Given the description of an element on the screen output the (x, y) to click on. 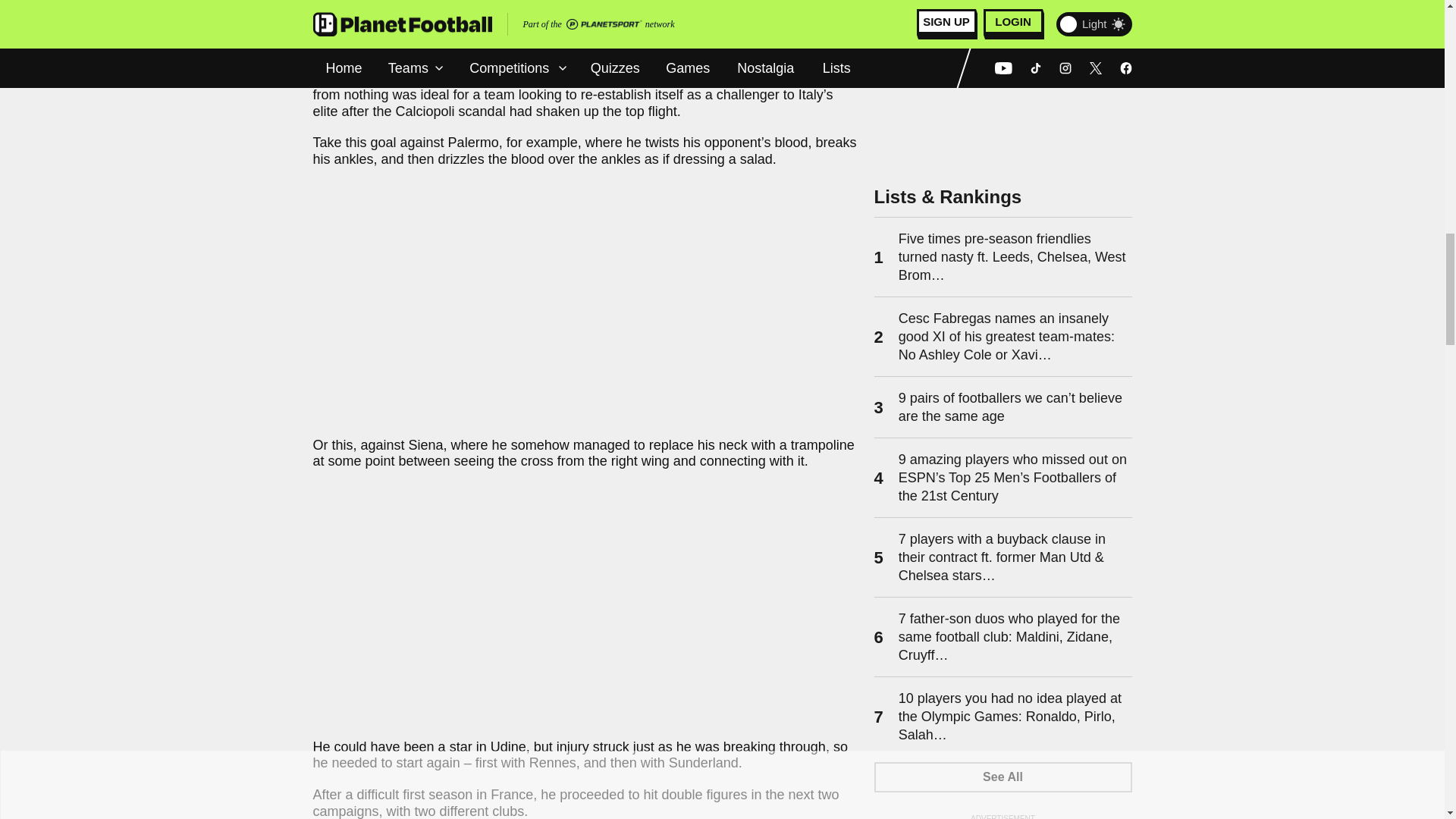
3rd party ad content (1002, 72)
